Given the description of an element on the screen output the (x, y) to click on. 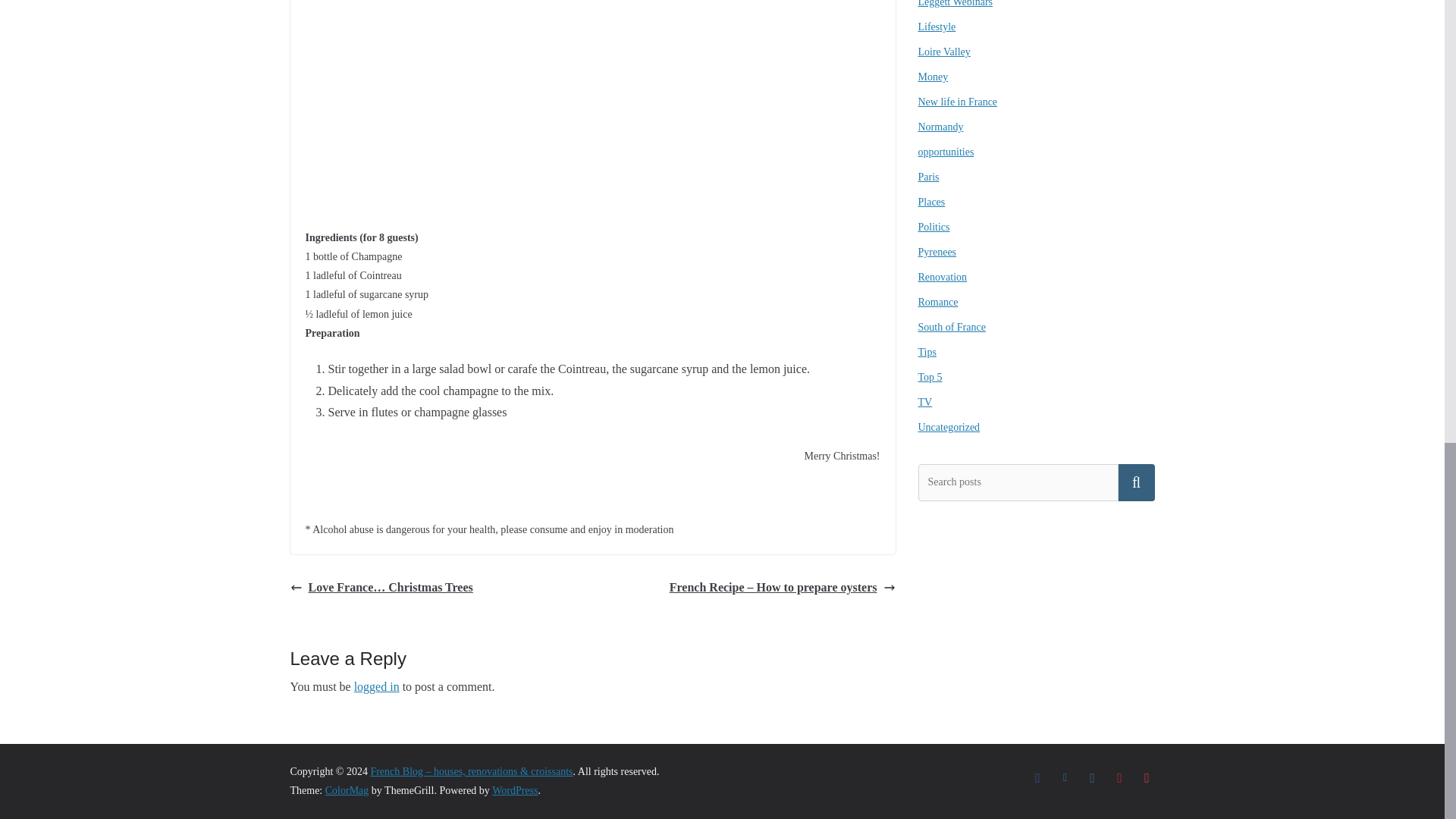
WordPress (514, 790)
ColorMag (346, 790)
logged in (375, 686)
